Given the description of an element on the screen output the (x, y) to click on. 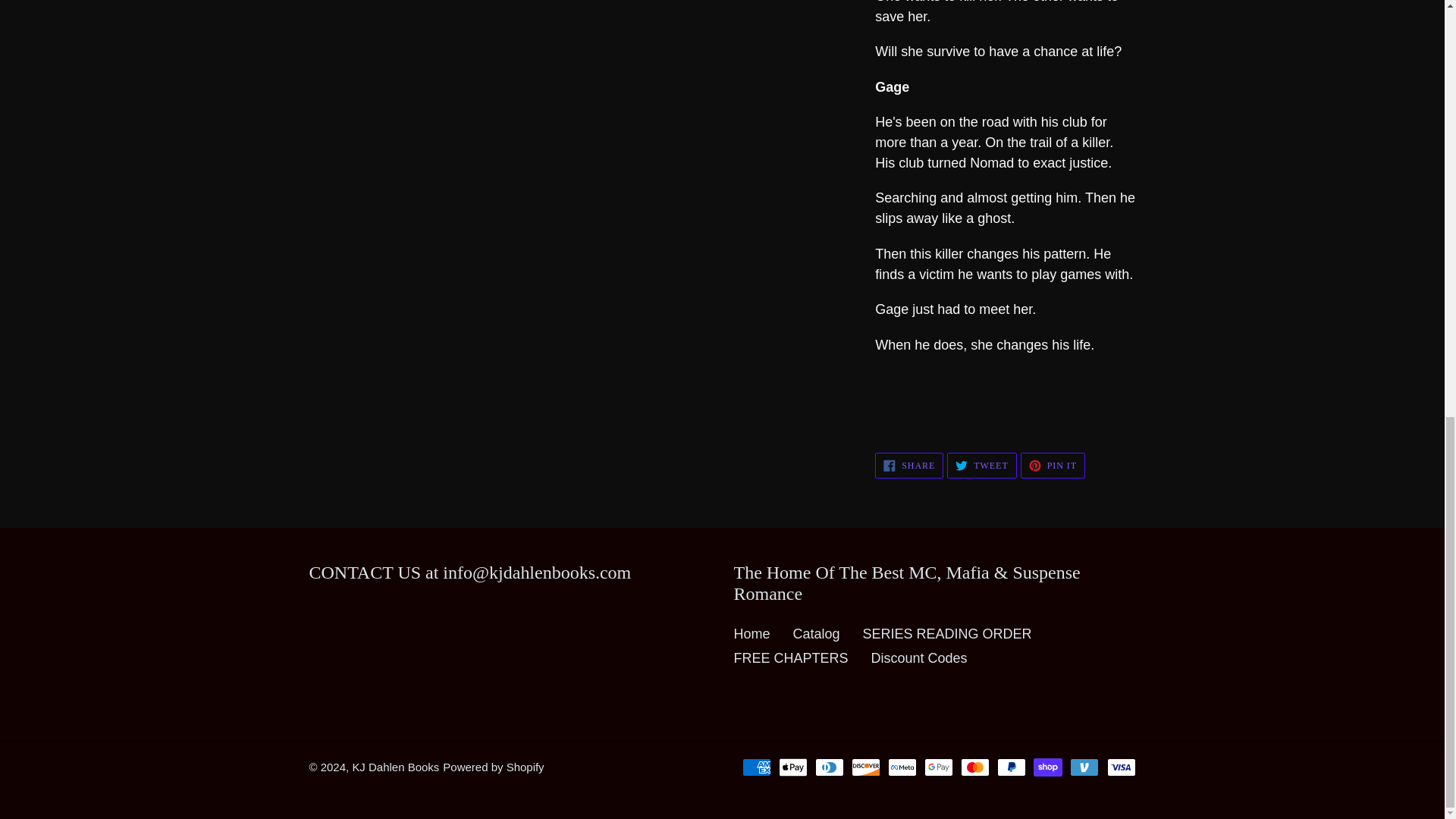
Discount Codes (919, 657)
FREE CHAPTERS (790, 657)
SERIES READING ORDER (909, 465)
Catalog (1052, 465)
Powered by Shopify (947, 633)
Home (816, 633)
KJ Dahlen Books (492, 766)
